Given the description of an element on the screen output the (x, y) to click on. 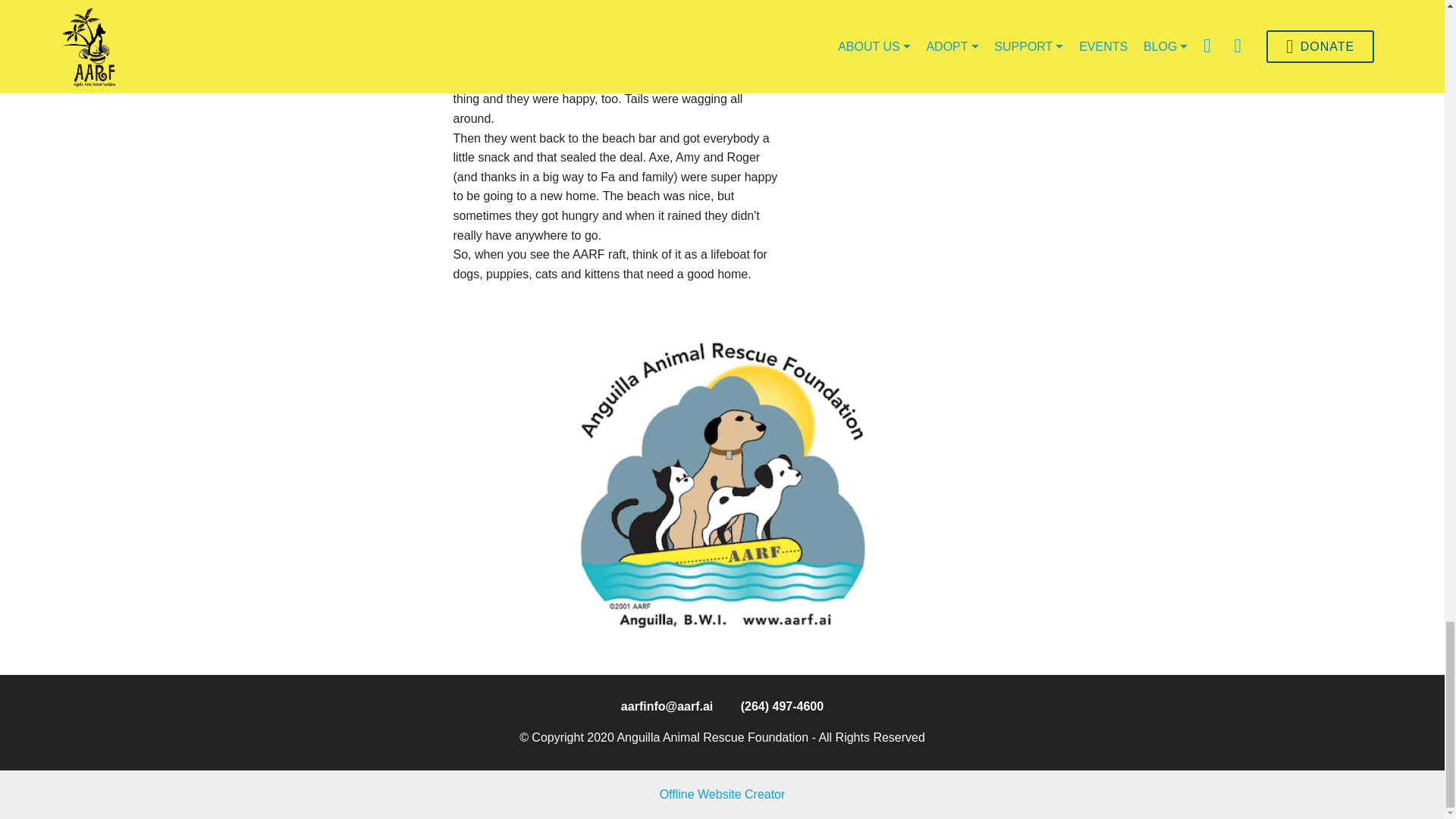
Offline Website Creator (722, 794)
